Given the description of an element on the screen output the (x, y) to click on. 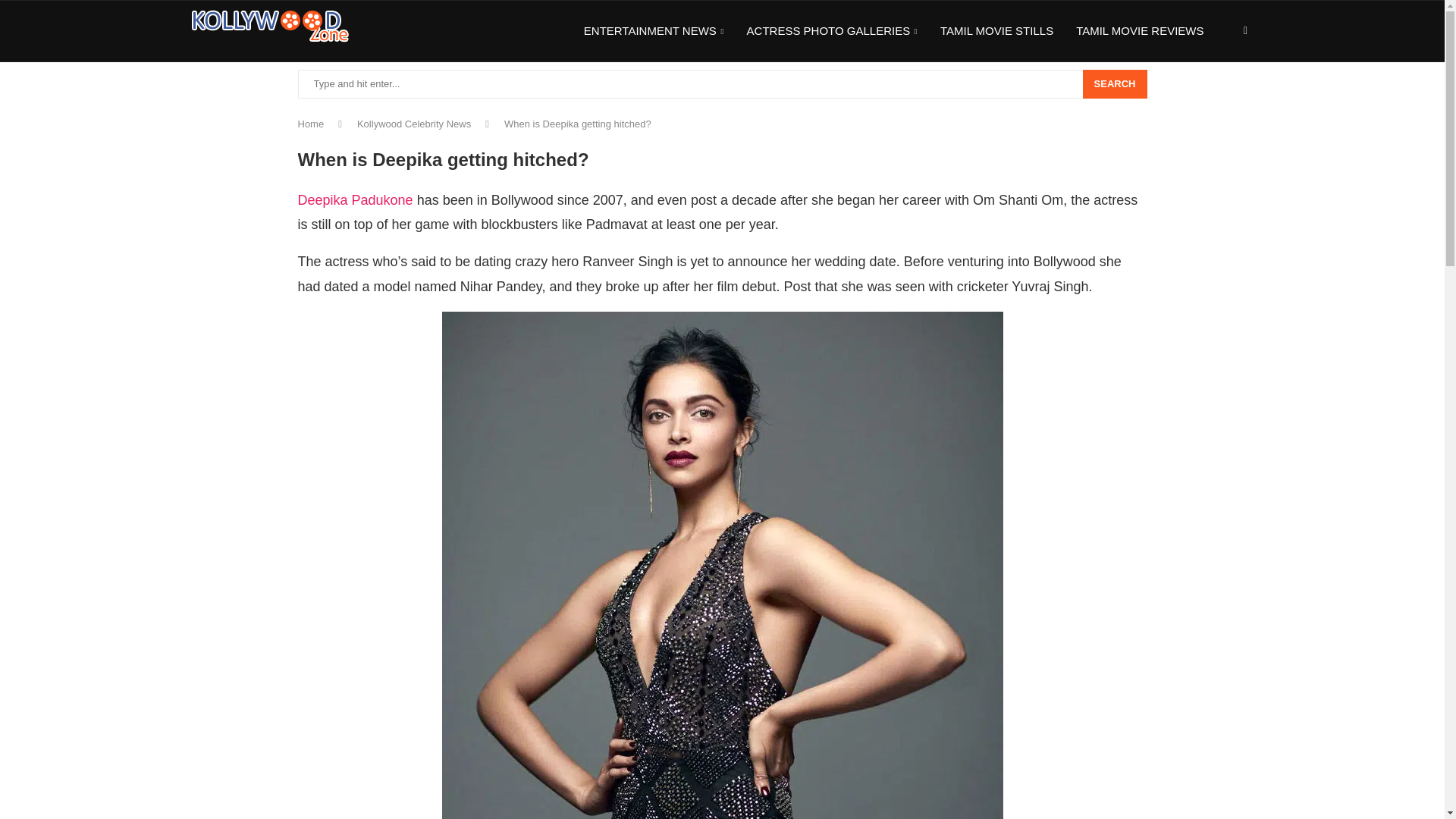
ENTERTAINMENT NEWS (653, 31)
TAMIL MOVIE REVIEWS (1139, 30)
TAMIL MOVIE STILLS (996, 30)
ACTRESS PHOTO GALLERIES (831, 31)
Deepika Padukone (354, 200)
Home (310, 123)
SEARCH (1115, 83)
Kollywood Celebrity News (413, 123)
